Given the description of an element on the screen output the (x, y) to click on. 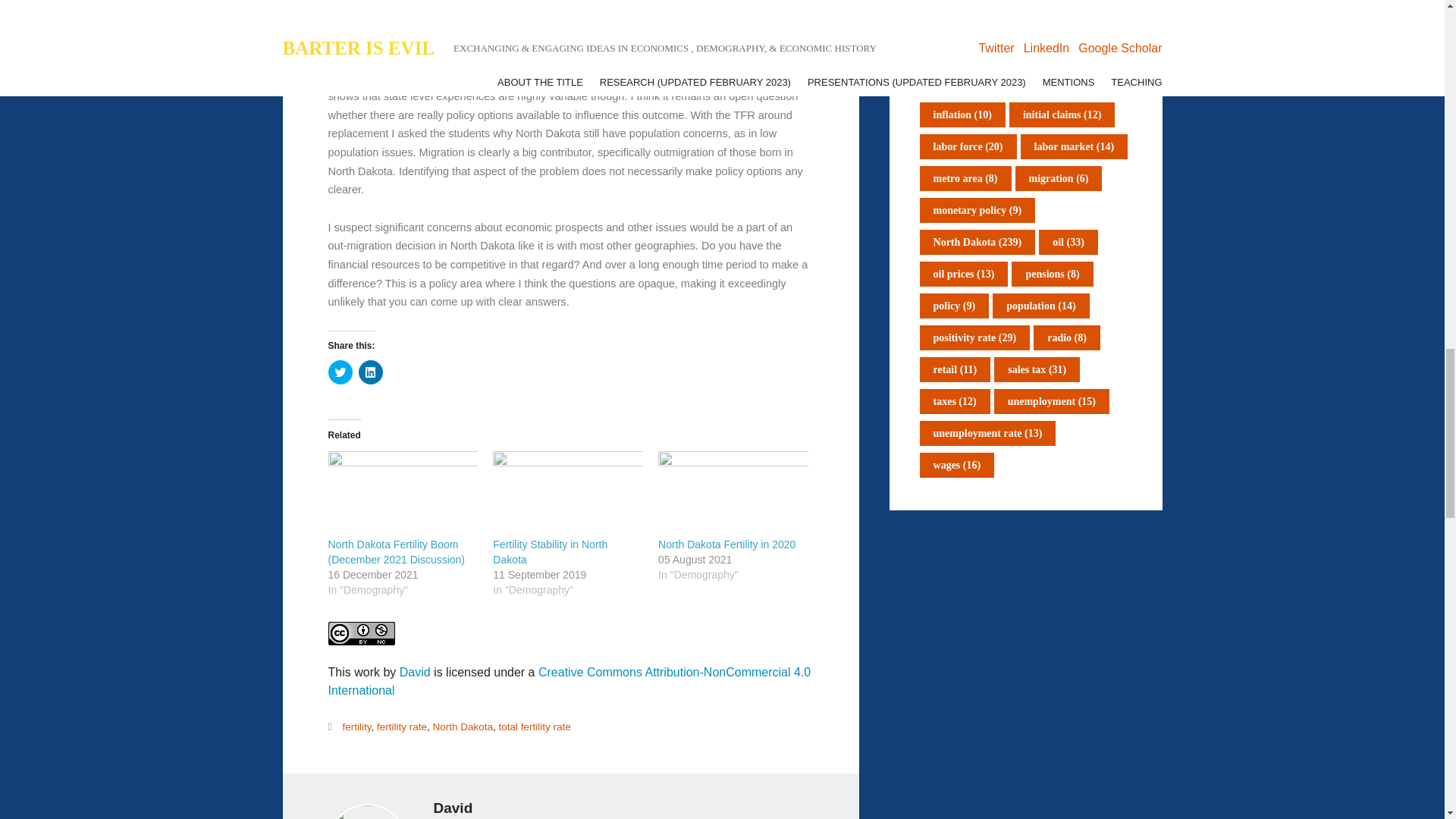
Click to share on LinkedIn (369, 372)
Fertility Stability in North Dakota (568, 494)
total fertility rate (534, 726)
North Dakota Fertility in 2020 (733, 494)
Click to share on Twitter (339, 372)
David (414, 671)
North Dakota Fertility in 2020 (726, 544)
fertility rate (401, 726)
Fertility Stability in North Dakota (550, 551)
Fertility Stability in North Dakota (550, 551)
Creative Commons Attribution-NonCommercial 4.0 International (568, 680)
fertility (356, 726)
North Dakota Fertility in 2020 (726, 544)
North Dakota (462, 726)
